Given the description of an element on the screen output the (x, y) to click on. 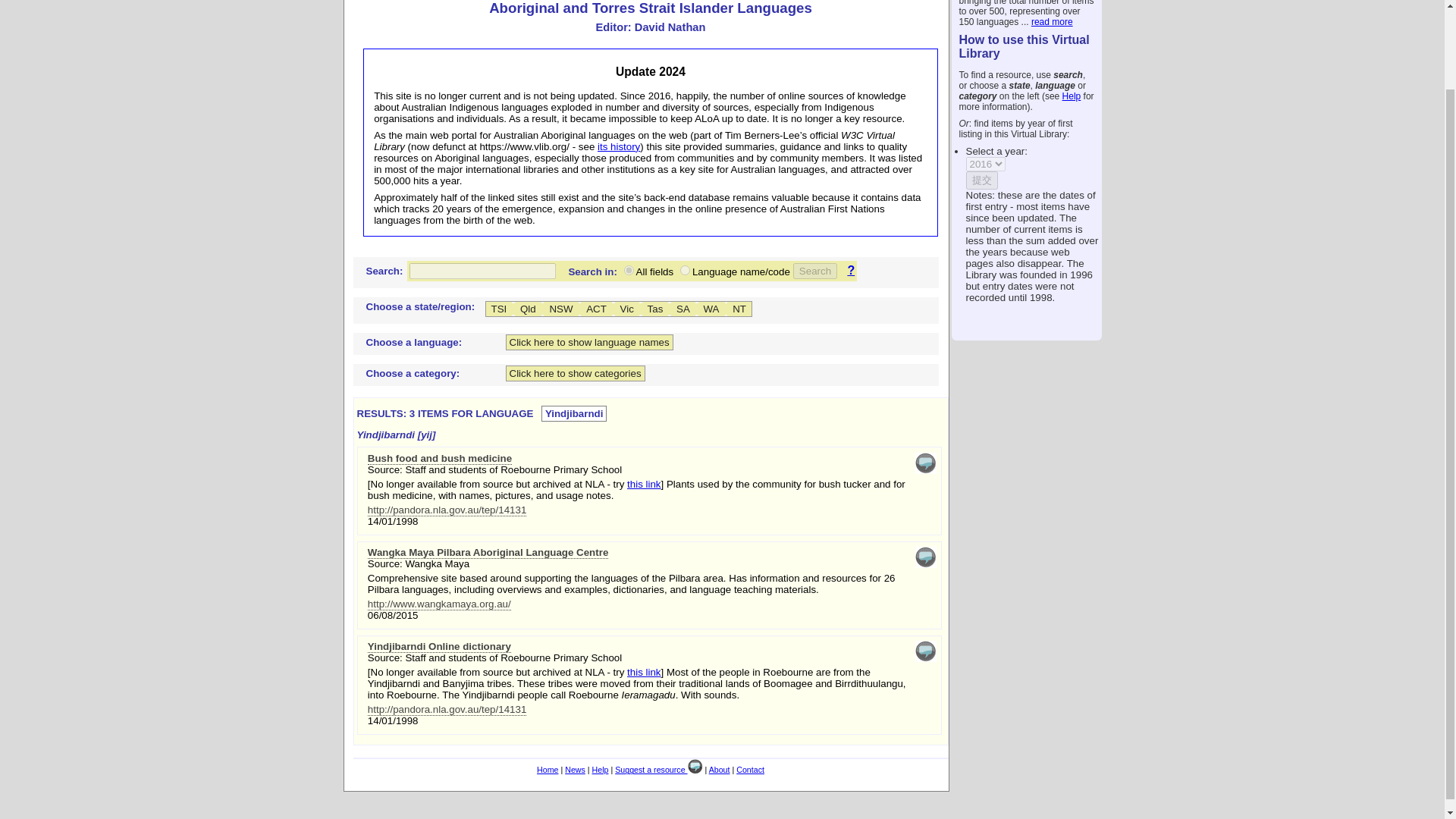
Resource will open in another tab or window (440, 458)
Update or give feedback on this item (925, 463)
Update or give feedback on this item (925, 564)
WA (711, 309)
Vic (626, 309)
Click here to show language names (588, 342)
NT (738, 309)
Vic (626, 309)
language (684, 270)
? (847, 269)
